Given the description of an element on the screen output the (x, y) to click on. 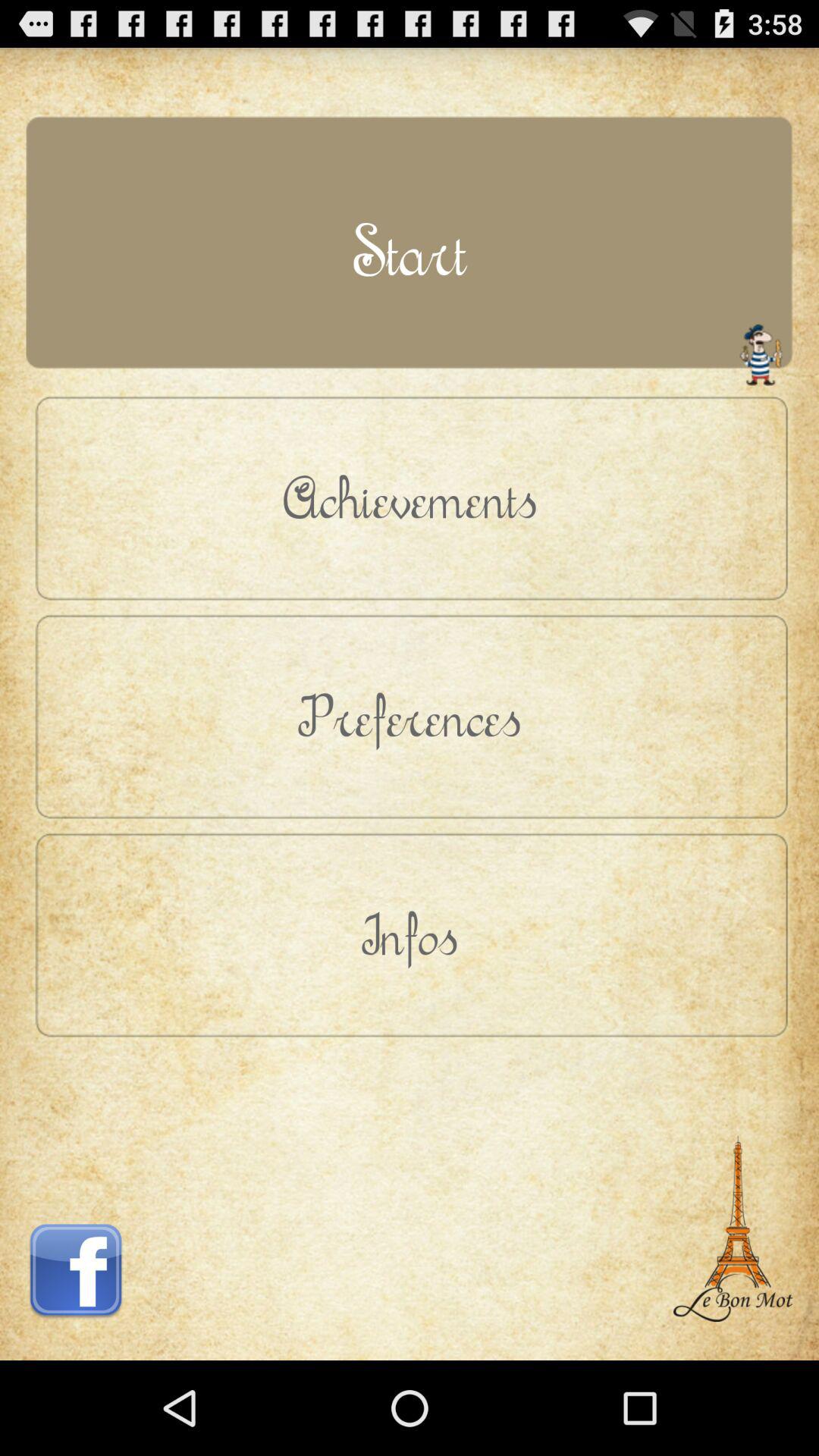
launch icon at the bottom left corner (75, 1195)
